Given the description of an element on the screen output the (x, y) to click on. 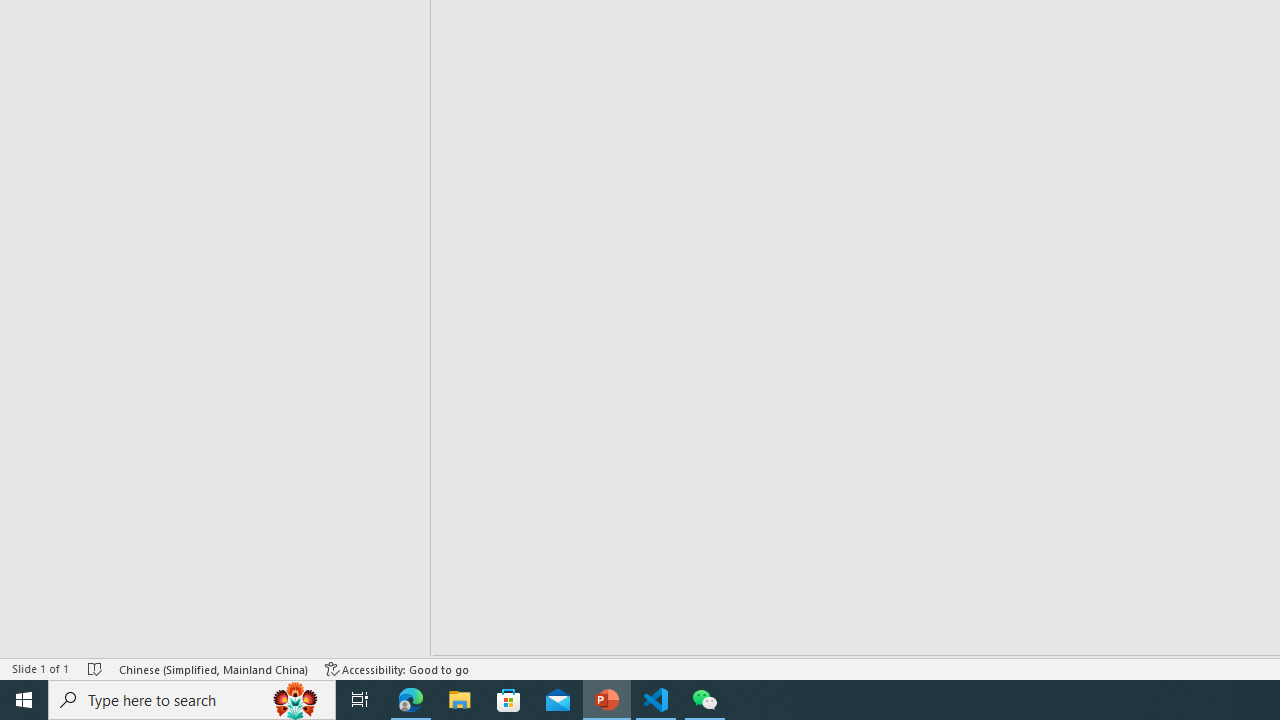
Accessibility Checker Accessibility: Good to go (397, 668)
